Given the description of an element on the screen output the (x, y) to click on. 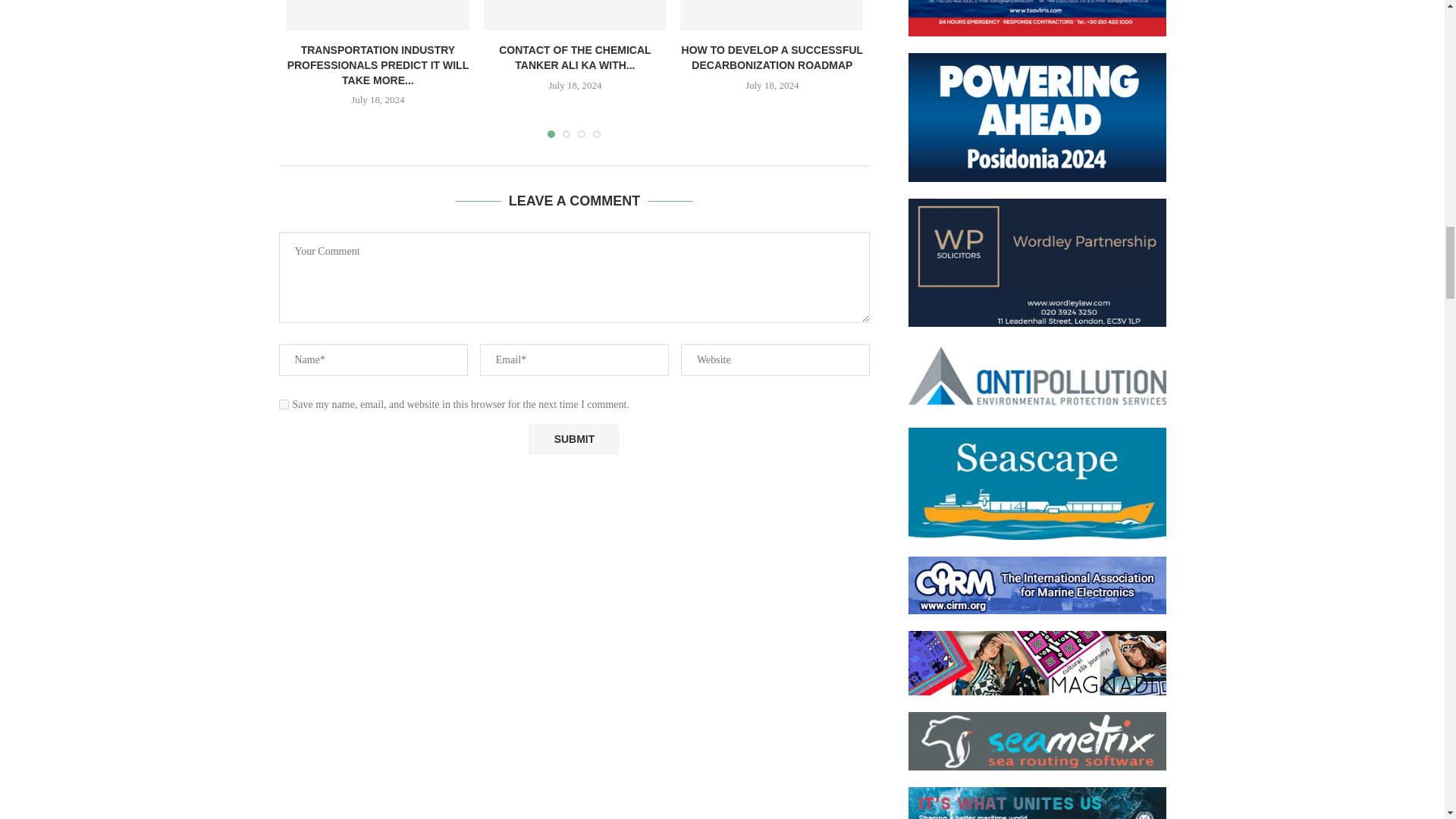
Submit (574, 439)
yes (283, 404)
How to develop a successful decarbonization roadmap (772, 15)
